Given the description of an element on the screen output the (x, y) to click on. 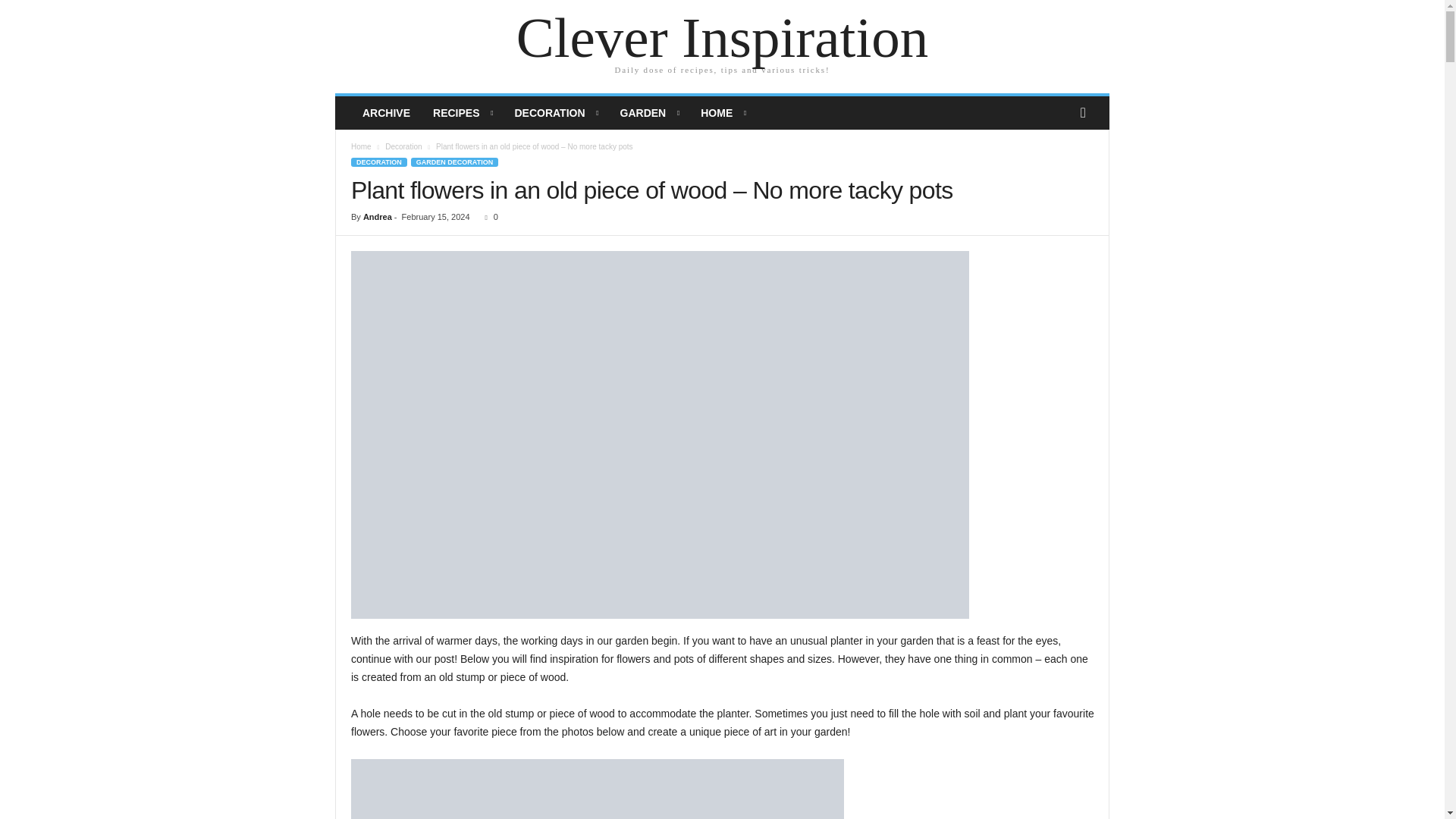
Home (360, 146)
DECORATION (555, 112)
Decoration (403, 146)
GARDEN DECORATION (453, 162)
RECIPES (462, 112)
Andrea (376, 216)
ARCHIVE (386, 112)
GARDEN (649, 112)
Clever Inspiration (721, 38)
HOME (721, 112)
DECORATION (378, 162)
View all posts in Decoration (403, 146)
